Given the description of an element on the screen output the (x, y) to click on. 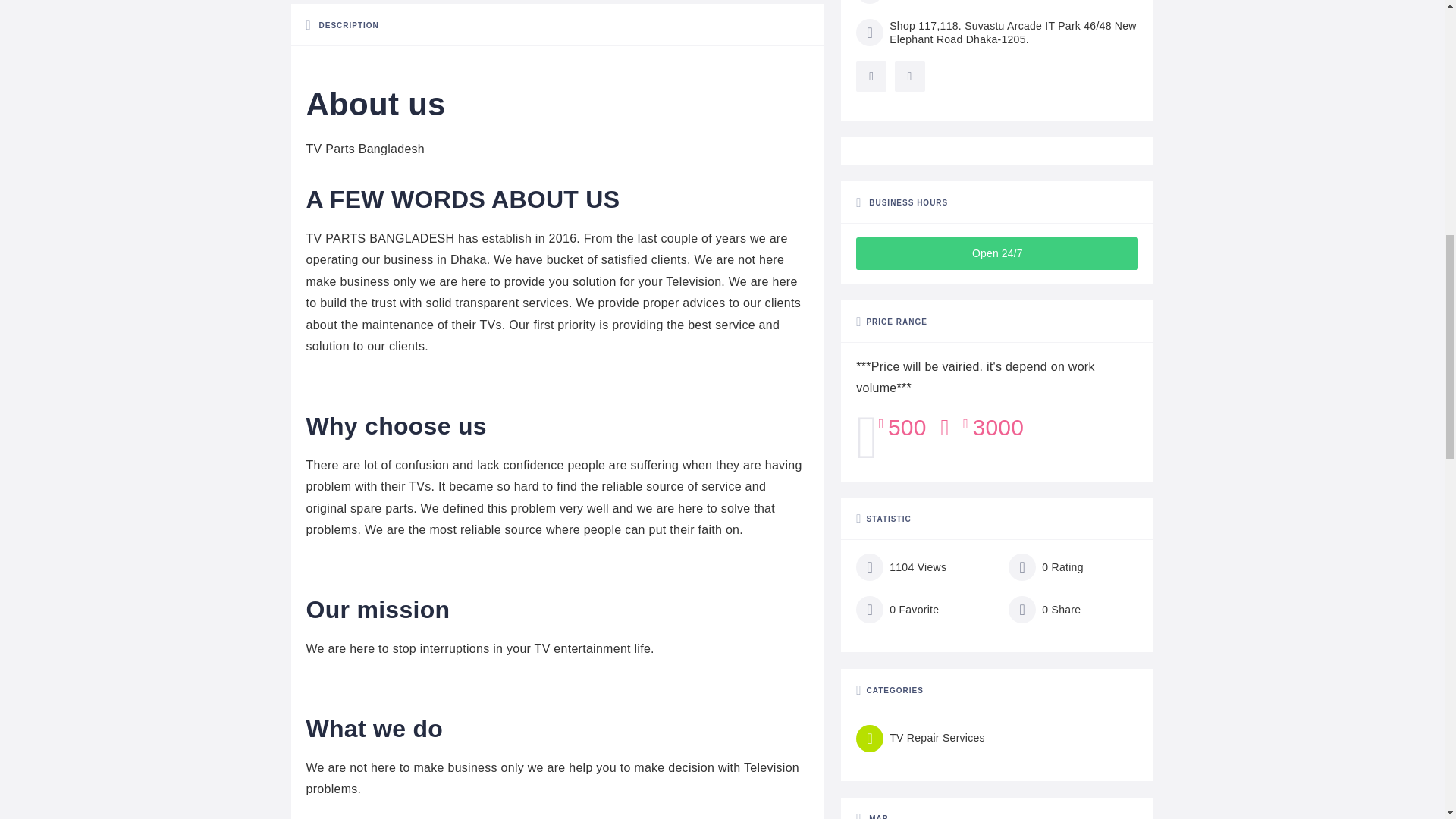
TV Parts Bangladesh (365, 148)
TV Repair Services (920, 738)
TV Repair Services (920, 738)
